Given the description of an element on the screen output the (x, y) to click on. 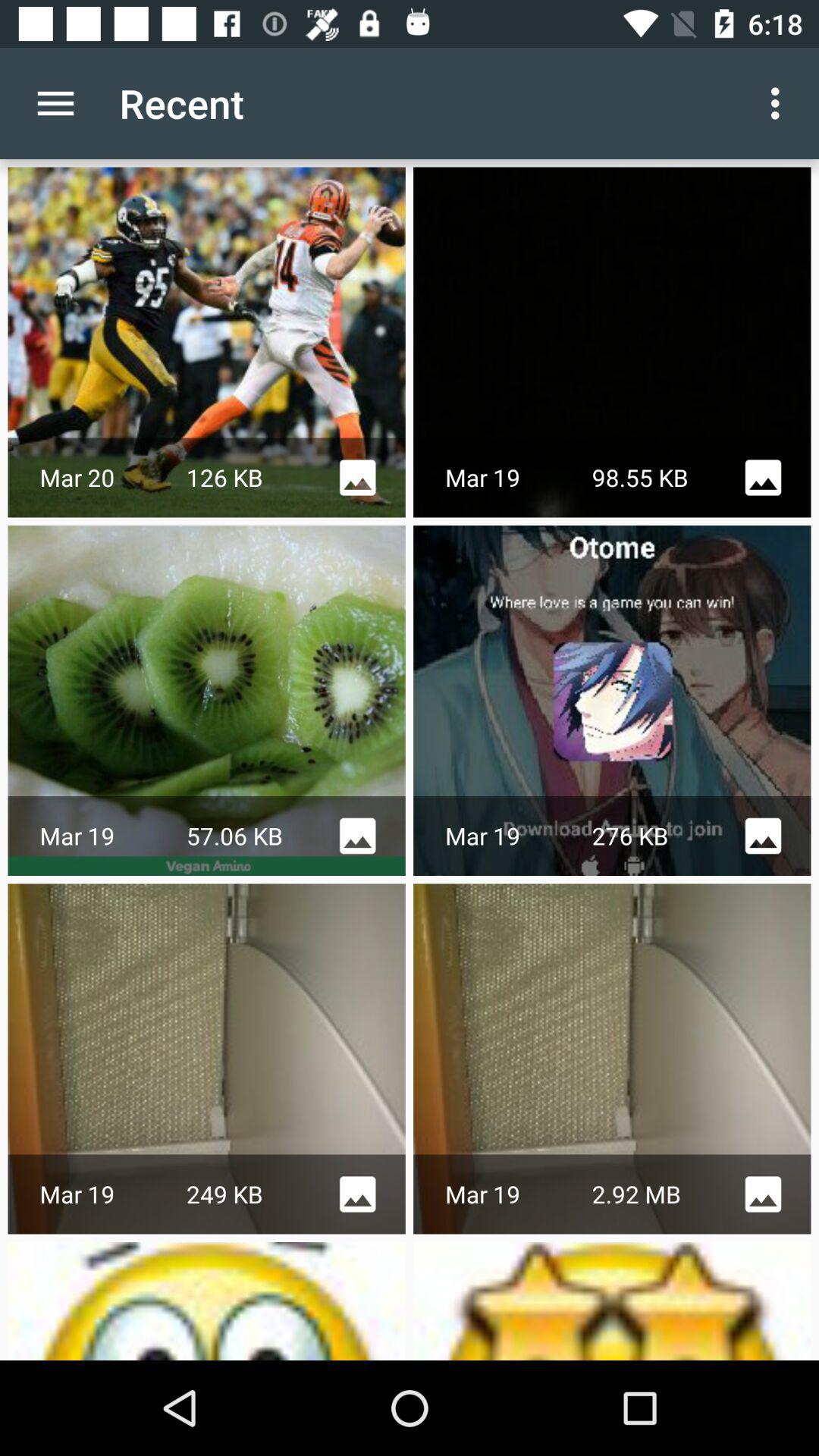
turn off the app next to the recent icon (55, 103)
